Given the description of an element on the screen output the (x, y) to click on. 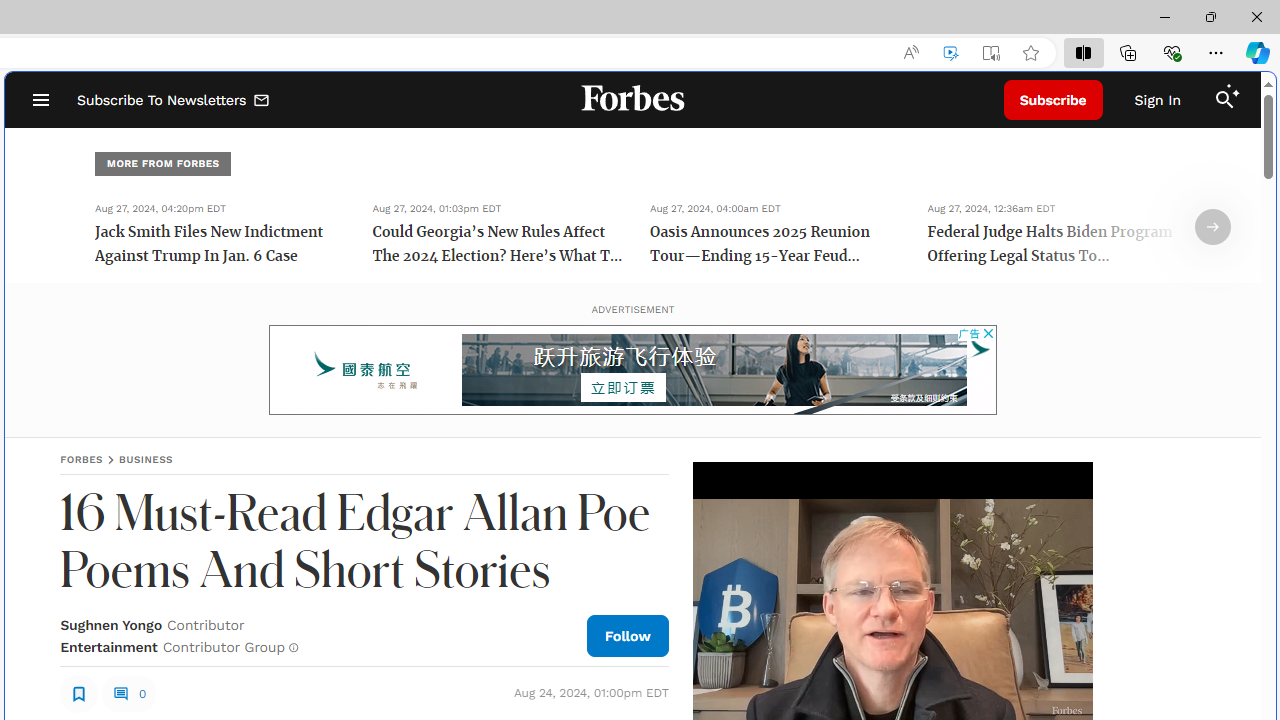
Class: sElHJWe4 (79, 692)
Minimize (1164, 16)
BUSINESS (145, 459)
Class: envelope_svg__fs-icon envelope_svg__fs-icon--envelope (262, 102)
Sign In (1157, 100)
Enter Immersive Reader (F9) (991, 53)
Class: sparkles_svg__fs-icon sparkles_svg__fs-icon--sparkles (1233, 91)
Sughnen Yongo (111, 623)
